Given the description of an element on the screen output the (x, y) to click on. 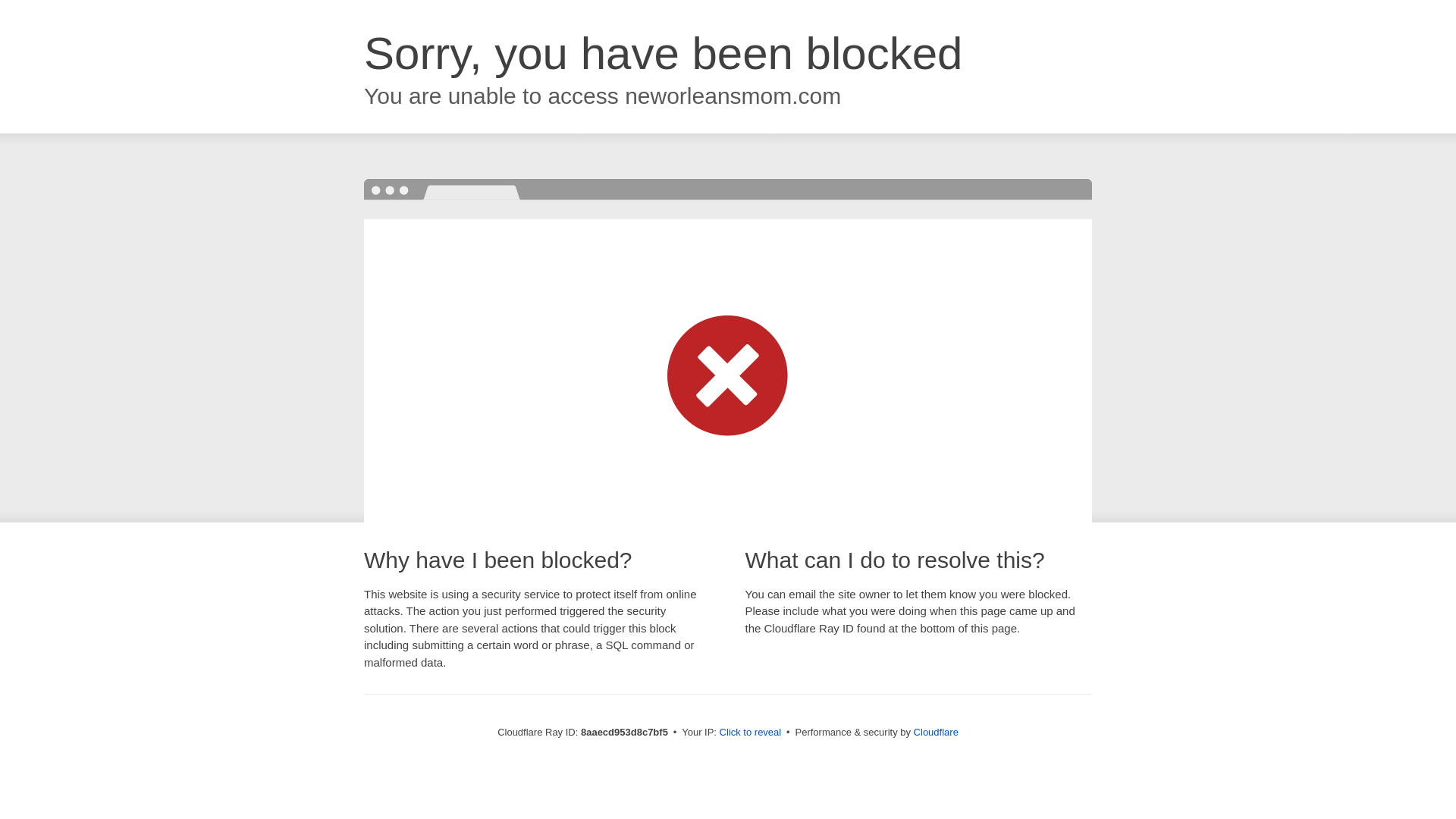
Cloudflare (936, 731)
Click to reveal (750, 732)
